Given the description of an element on the screen output the (x, y) to click on. 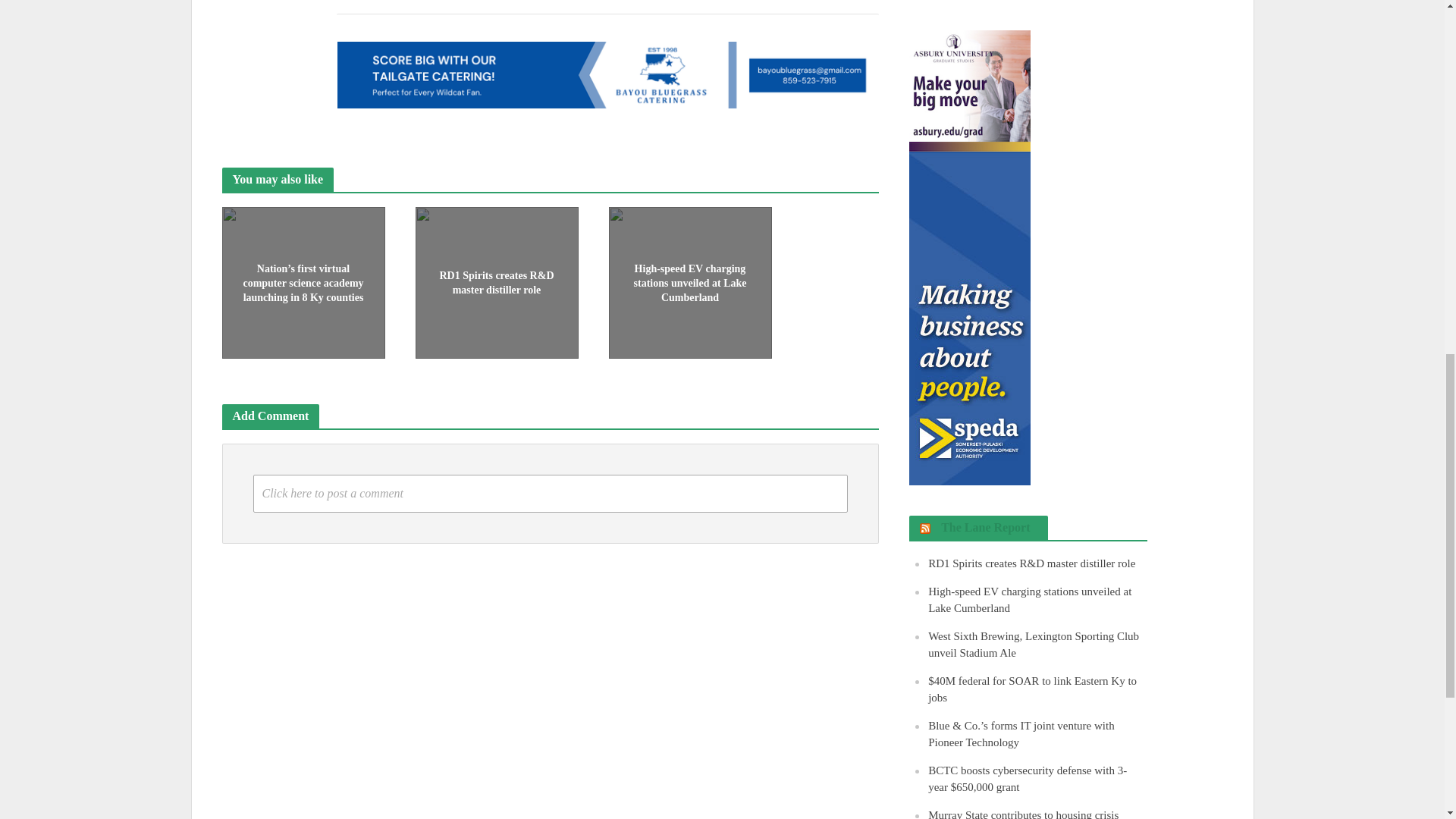
High-speed EV charging stations unveiled at Lake Cumberland (689, 281)
